Given the description of an element on the screen output the (x, y) to click on. 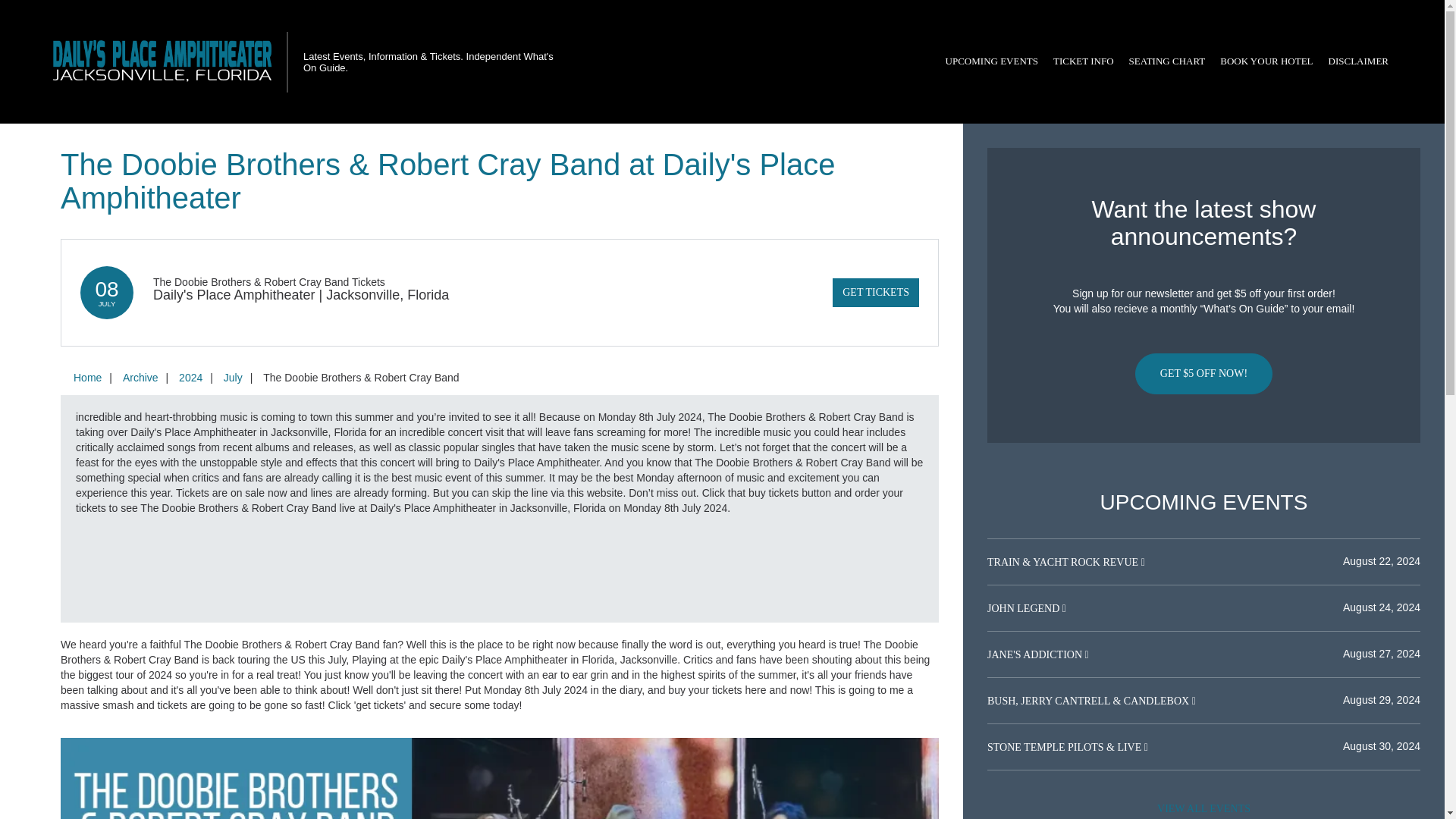
DISCLAIMER (1358, 61)
TICKET INFO (1083, 61)
JOHN LEGEND (1024, 608)
Home (87, 377)
GET TICKETS (875, 292)
BOOK YOUR HOTEL (1266, 61)
SEATING CHART (1166, 61)
July (232, 377)
Archive (140, 377)
VIEW ALL EVENTS (1203, 806)
